Given the description of an element on the screen output the (x, y) to click on. 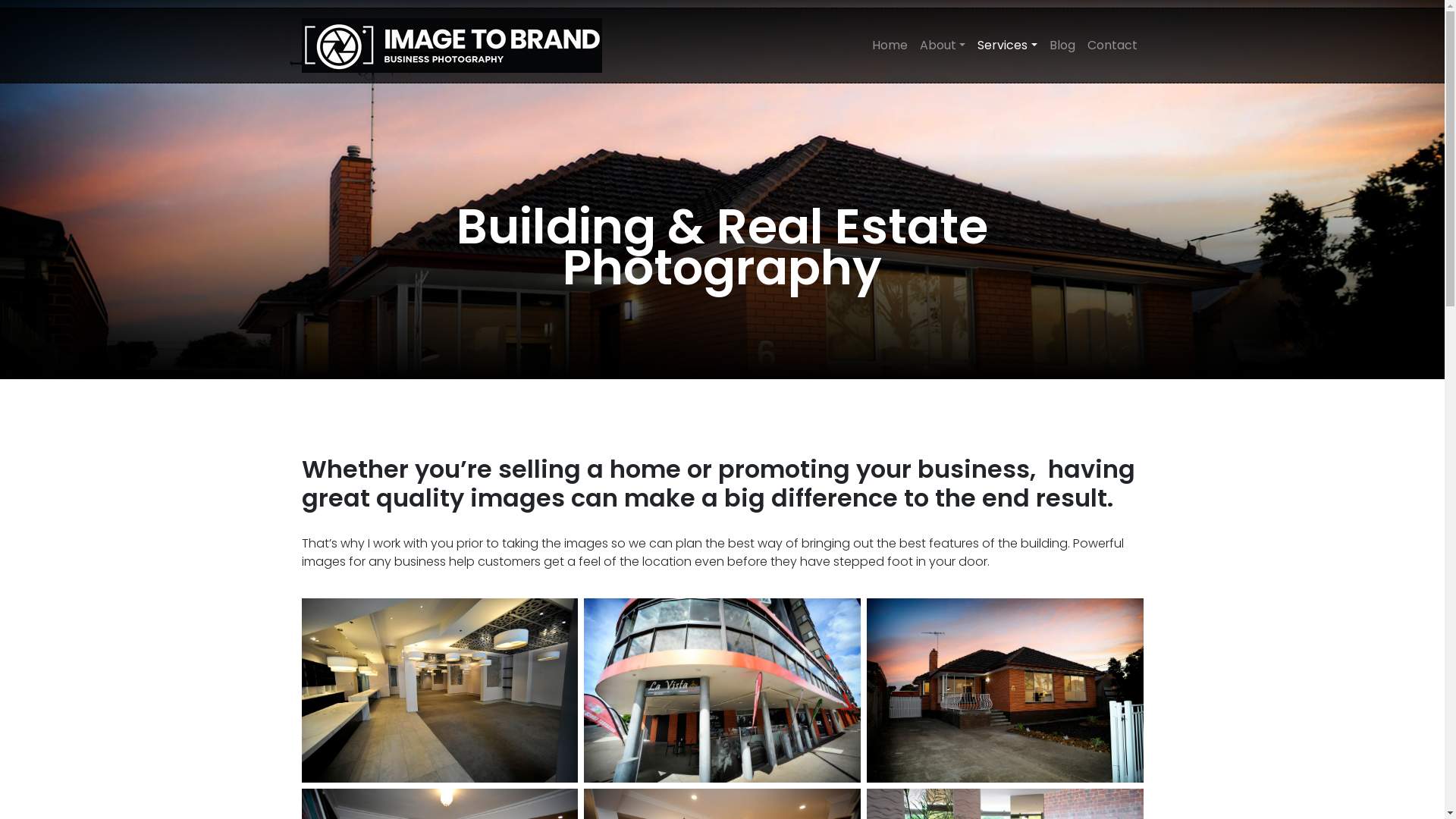
Blog Element type: text (1062, 45)
Contact Element type: text (1112, 45)
Services Element type: text (1006, 45)
Home Element type: text (889, 45)
About Element type: text (942, 45)
